Given the description of an element on the screen output the (x, y) to click on. 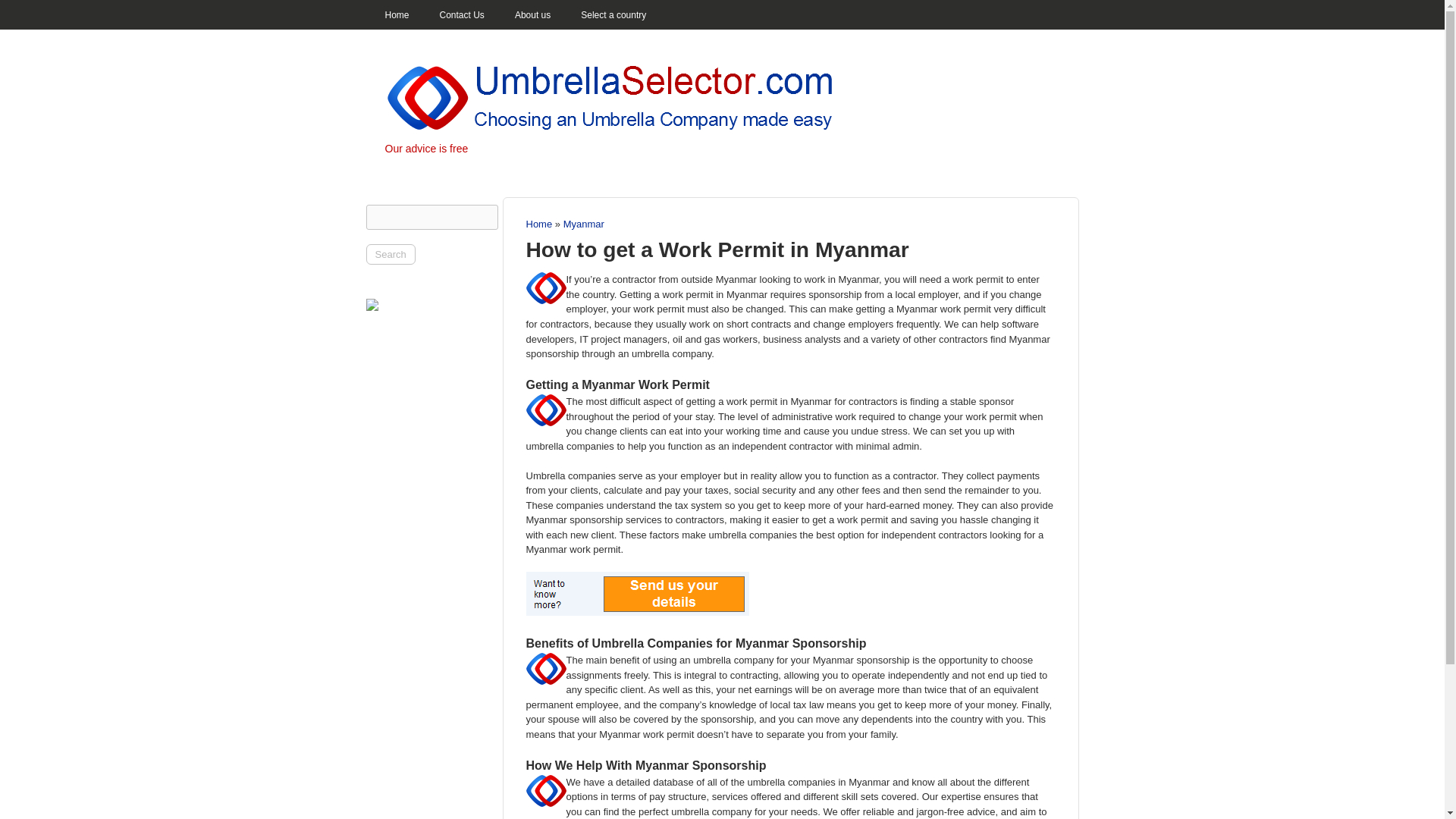
Home (397, 16)
Home (397, 16)
Contact Us (462, 16)
Select a country (613, 16)
Search (389, 254)
About us (532, 16)
Select a country (613, 16)
About us (532, 16)
Contact Us (462, 16)
